Given the description of an element on the screen output the (x, y) to click on. 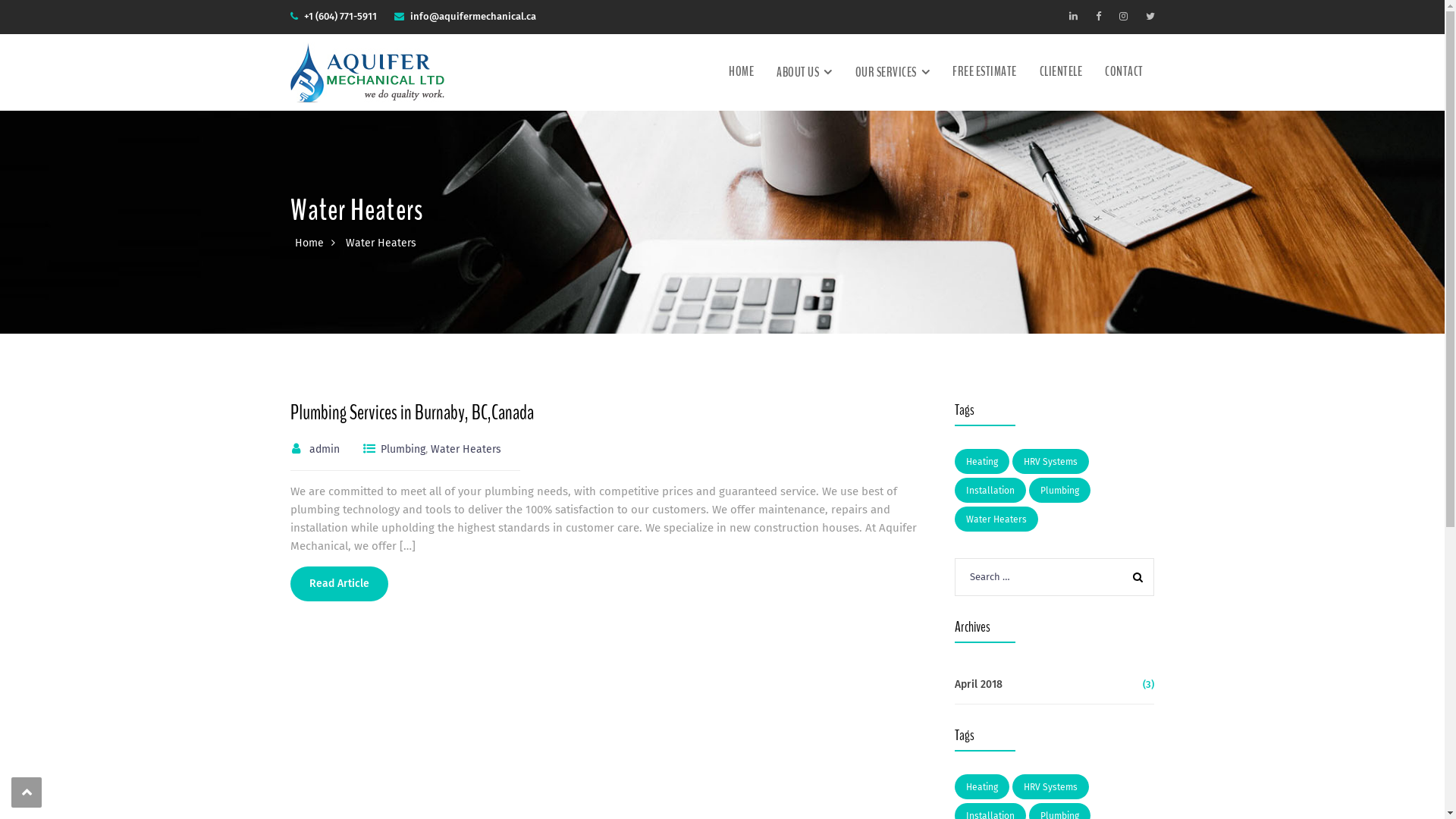
Read Article Element type: text (338, 583)
FREE ESTIMATE Element type: text (984, 71)
CONTACT Element type: text (1123, 71)
https://www.instagram.com/aquifer_mechanical_ltd Element type: hover (1123, 15)
April 2018 Element type: text (978, 684)
"#" Element type: hover (1149, 15)
CLIENTELE Element type: text (1061, 71)
"#" Element type: hover (1073, 15)
Heating Element type: text (981, 786)
ABOUT US Element type: text (804, 72)
Search Element type: text (1133, 577)
Heating Element type: text (981, 460)
OUR SERVICES Element type: text (892, 72)
Plumbing Services in Burnaby, BC,Canada Element type: text (411, 412)
HRV Systems Element type: text (1050, 786)
+1 (604) 771-5911 Element type: text (339, 15)
Water Heaters Element type: text (996, 518)
Plumbing Element type: text (402, 448)
HOME Element type: text (741, 71)
Plumbing Element type: text (1059, 489)
HRV Systems Element type: text (1050, 460)
info@aquifermechanical.ca Element type: text (472, 15)
Home Element type: text (308, 242)
admin Element type: text (324, 448)
Installation Element type: text (990, 489)
Water Heaters Element type: text (465, 448)
Aquifer Mechanical Element type: hover (367, 71)
